Given the description of an element on the screen output the (x, y) to click on. 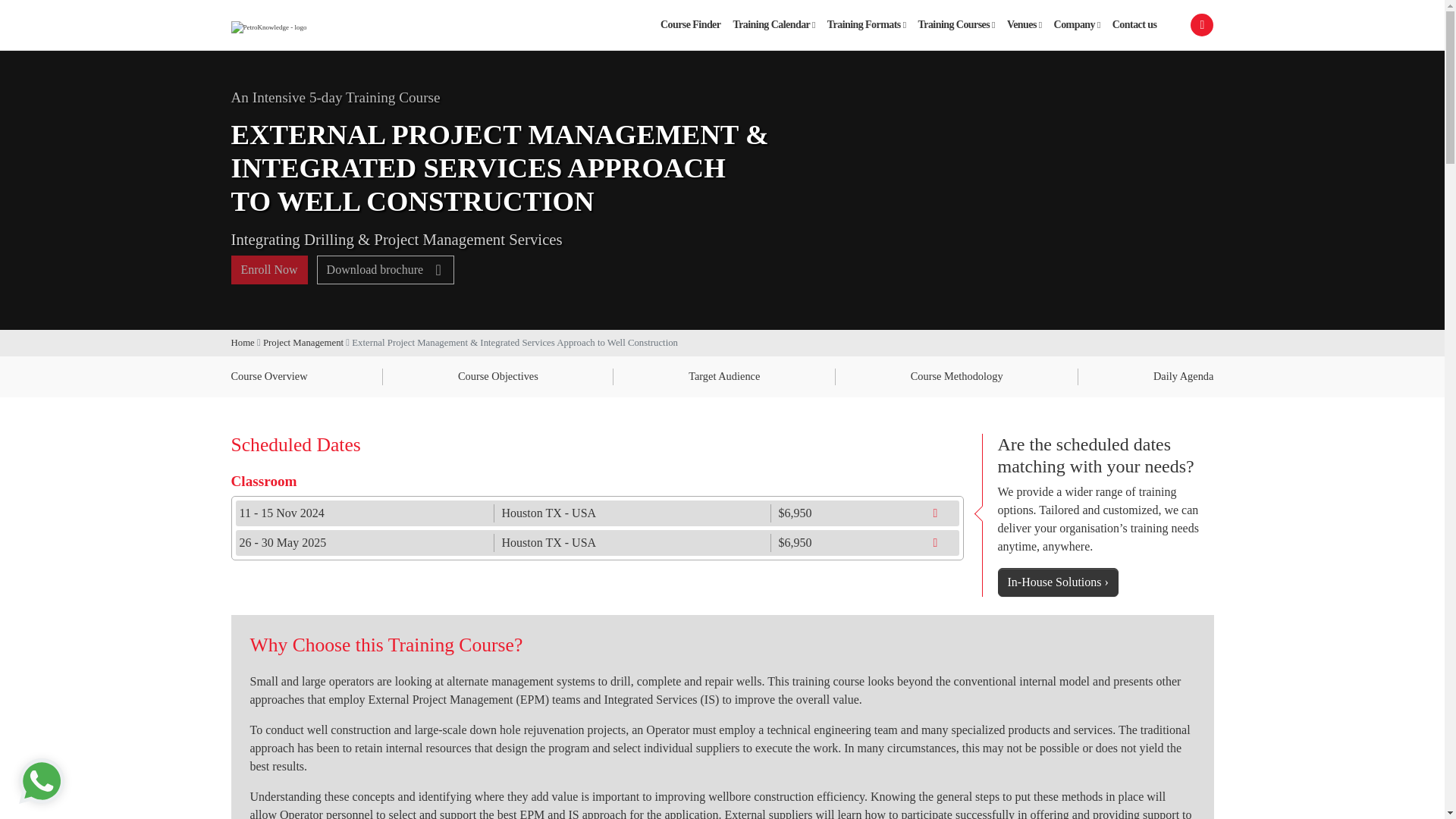
Course Objectives (498, 376)
Daily Agenda (1183, 376)
Course Overview (268, 376)
Show Chat (42, 781)
Course Methodology (957, 376)
Training Calendar (773, 24)
Course Finder (689, 24)
Target Audience (724, 376)
Training Courses (956, 24)
Training Formats (866, 24)
